Given the description of an element on the screen output the (x, y) to click on. 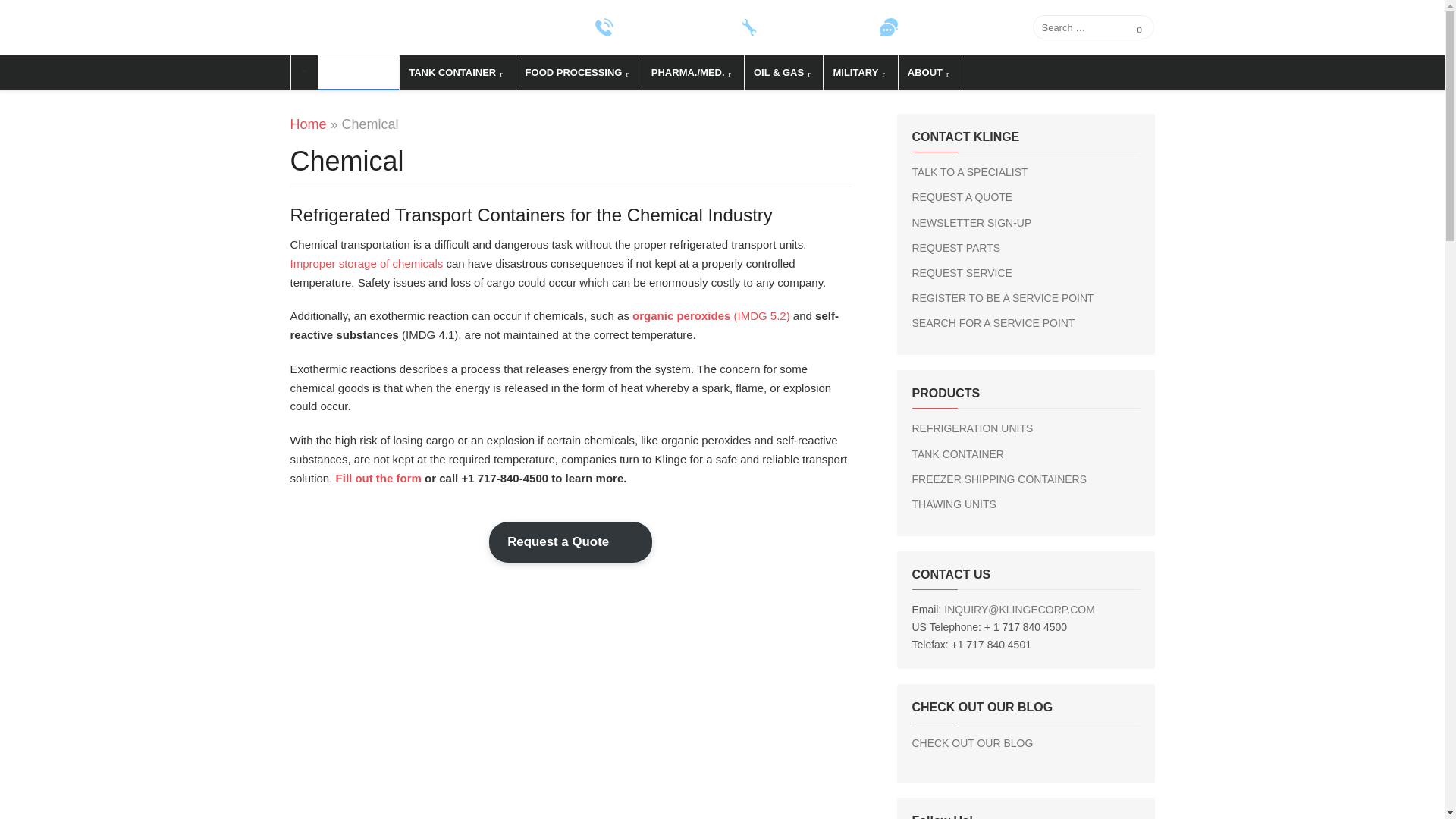
Request Service (797, 27)
FOOD PROCESSING (578, 72)
CHEMICAL (357, 72)
Talk to a Specialist (943, 27)
TANK CONTAINER (456, 72)
